Given the description of an element on the screen output the (x, y) to click on. 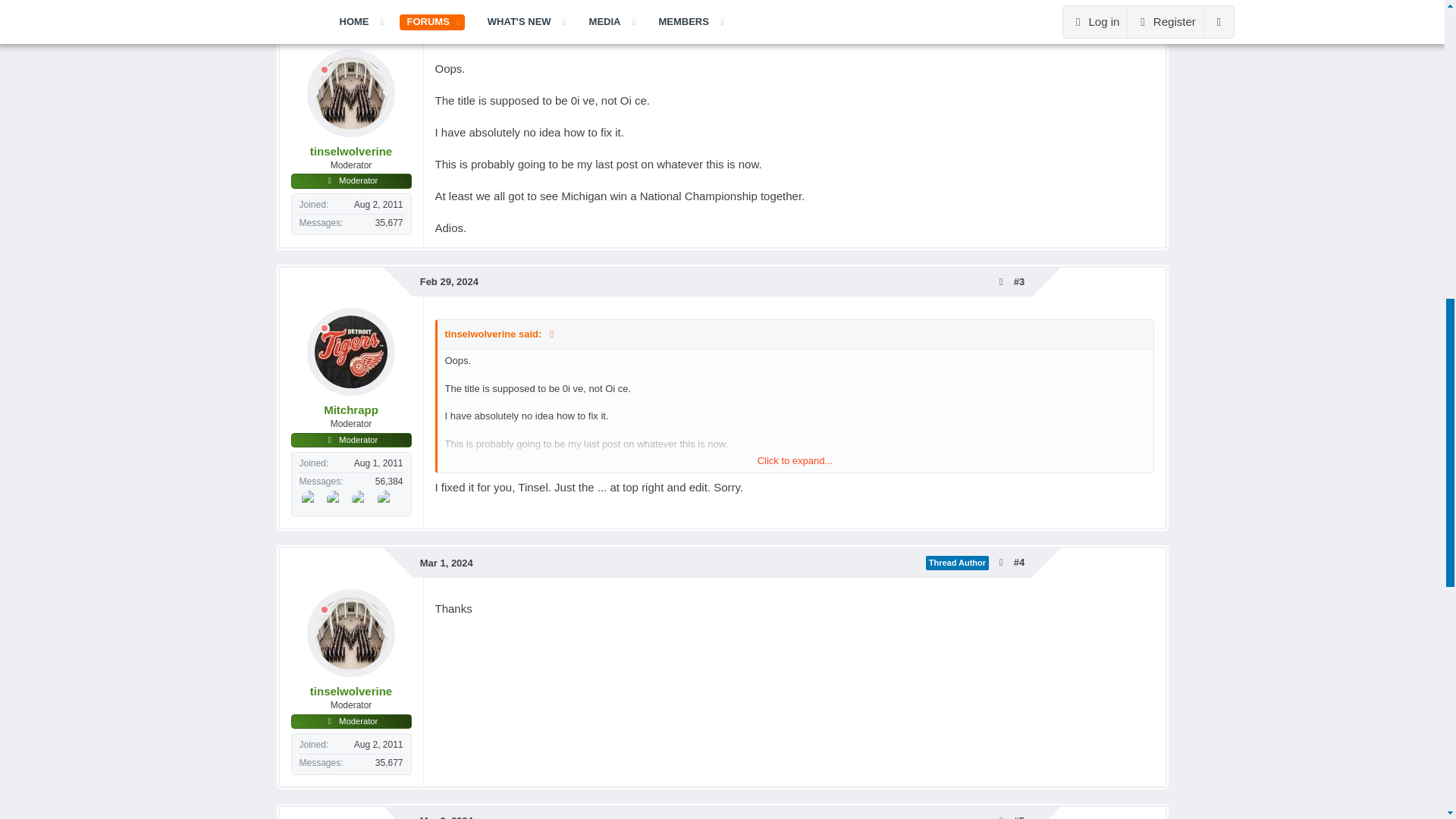
Feb 29, 2024 at 1:46 AM (449, 281)
Feb 29, 2024 at 1:16 AM (449, 22)
Mar 1, 2024 at 6:56 PM (446, 562)
Mar 2, 2024 at 2:03 AM (446, 816)
